Given the description of an element on the screen output the (x, y) to click on. 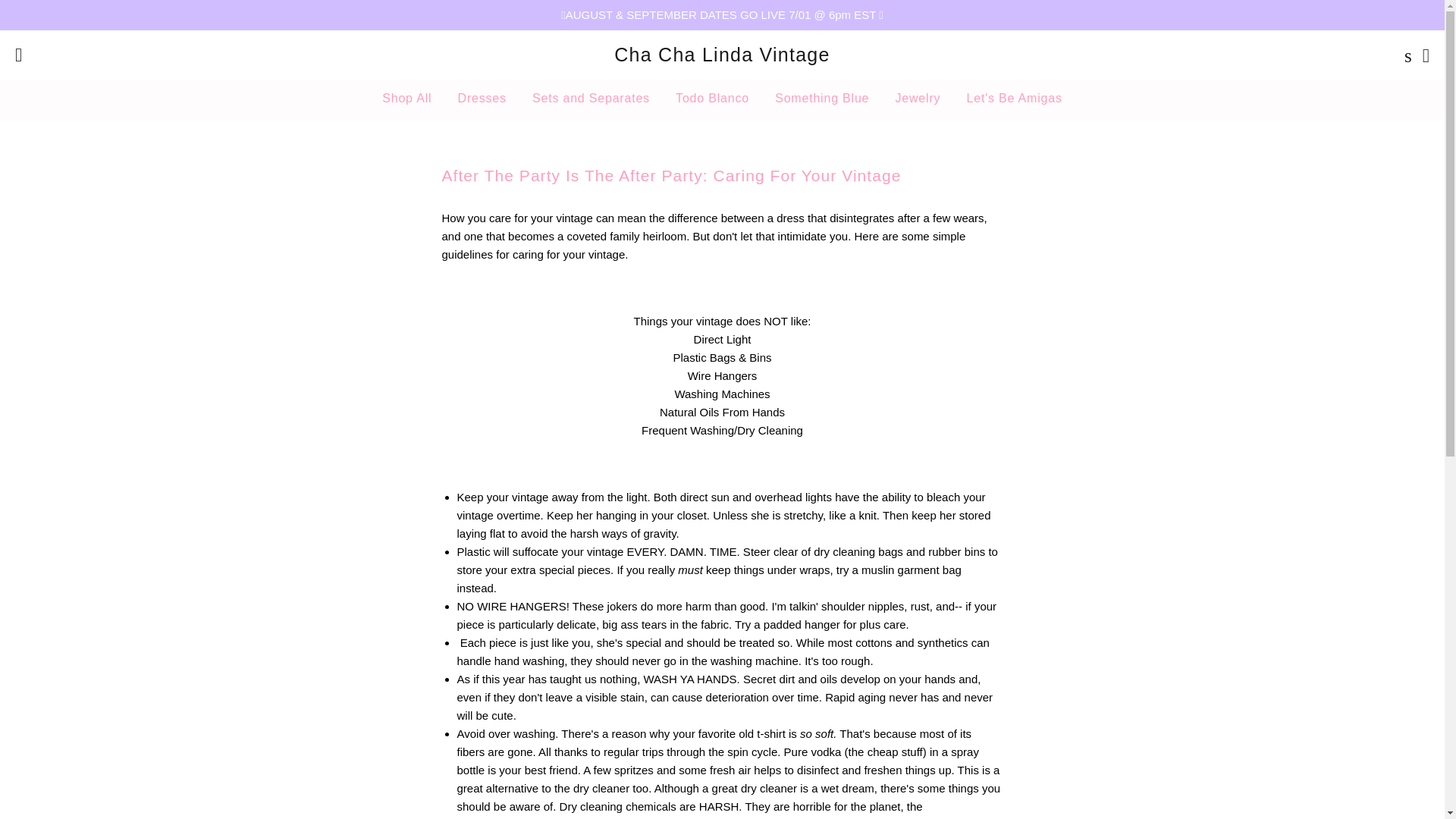
Jewelry (917, 98)
Something Blue (821, 98)
Shop All (406, 98)
Let's Be Amigas (1014, 98)
Sets and Separates (591, 98)
Todo Blanco (711, 98)
Dresses (482, 98)
Cha Cha Linda Vintage (722, 54)
